Given the description of an element on the screen output the (x, y) to click on. 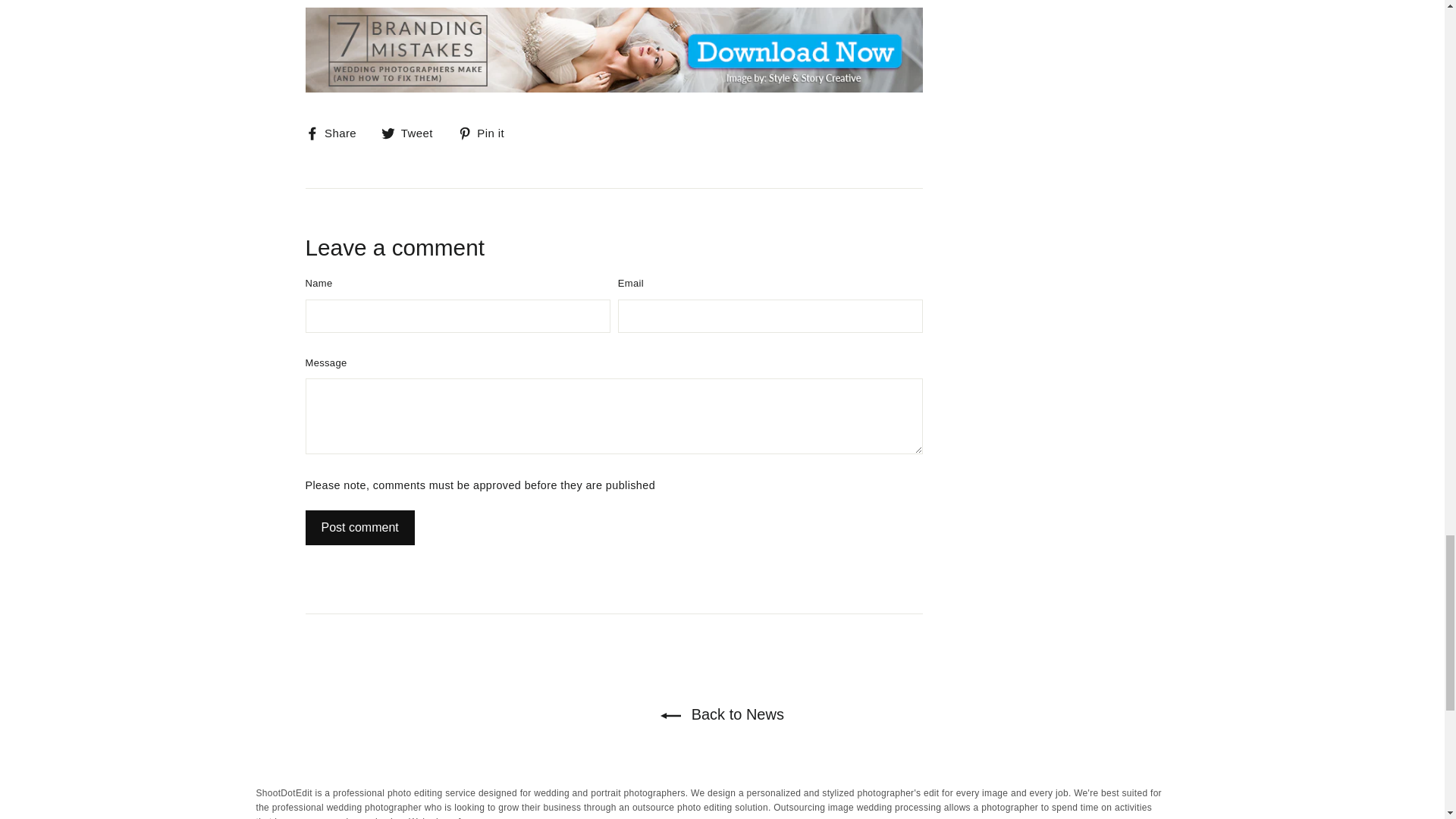
Tweet on Twitter (412, 132)
Post comment (358, 528)
Pin on Pinterest (486, 132)
Share on Facebook (336, 132)
